Given the description of an element on the screen output the (x, y) to click on. 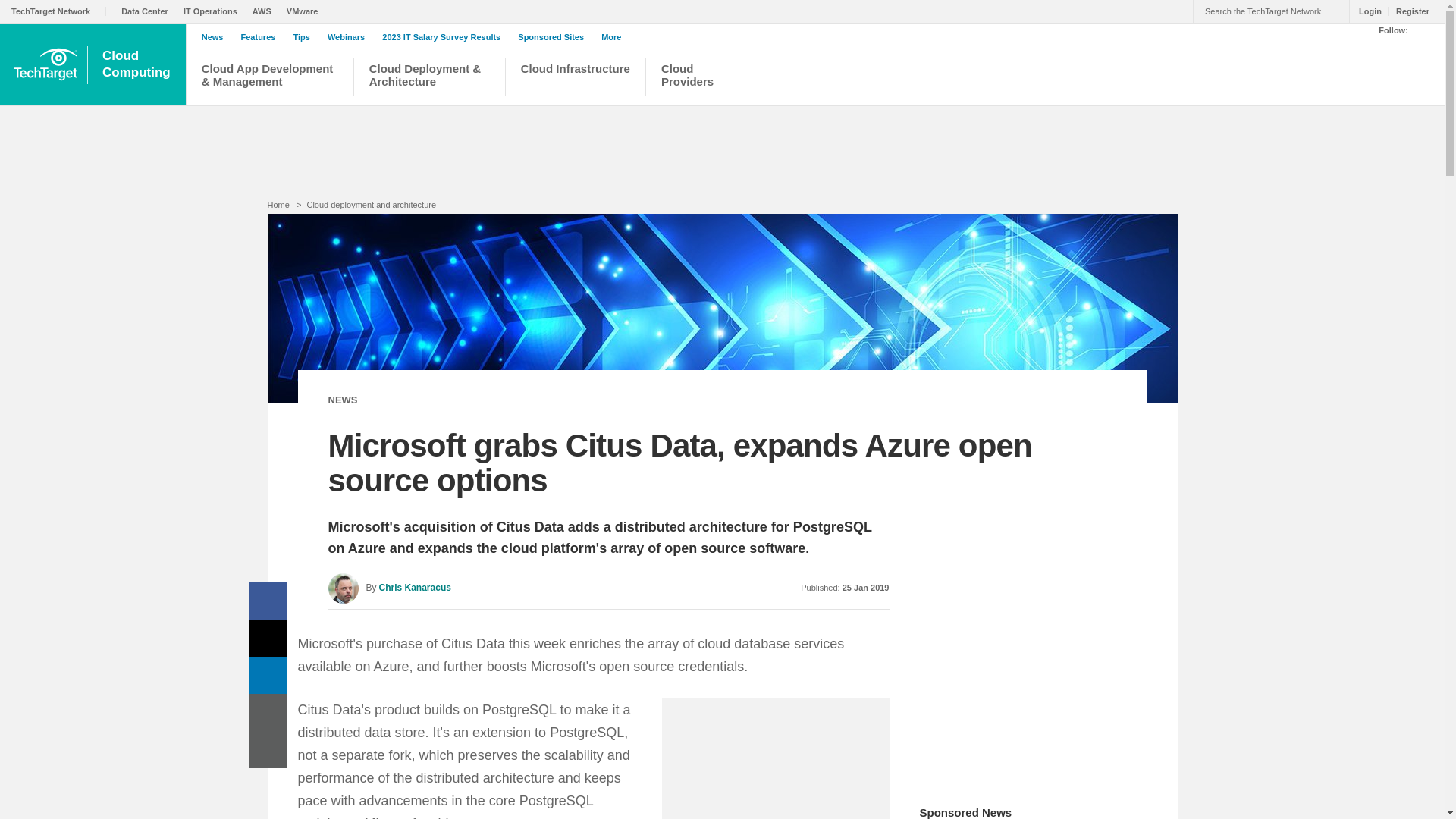
TechTarget Network (58, 10)
Cloud Infrastructure (575, 79)
IT Operations (213, 10)
Share on X (267, 637)
Cloud Providers (702, 79)
AWS (265, 10)
Register (138, 64)
VMware (1408, 10)
News (306, 10)
